Given the description of an element on the screen output the (x, y) to click on. 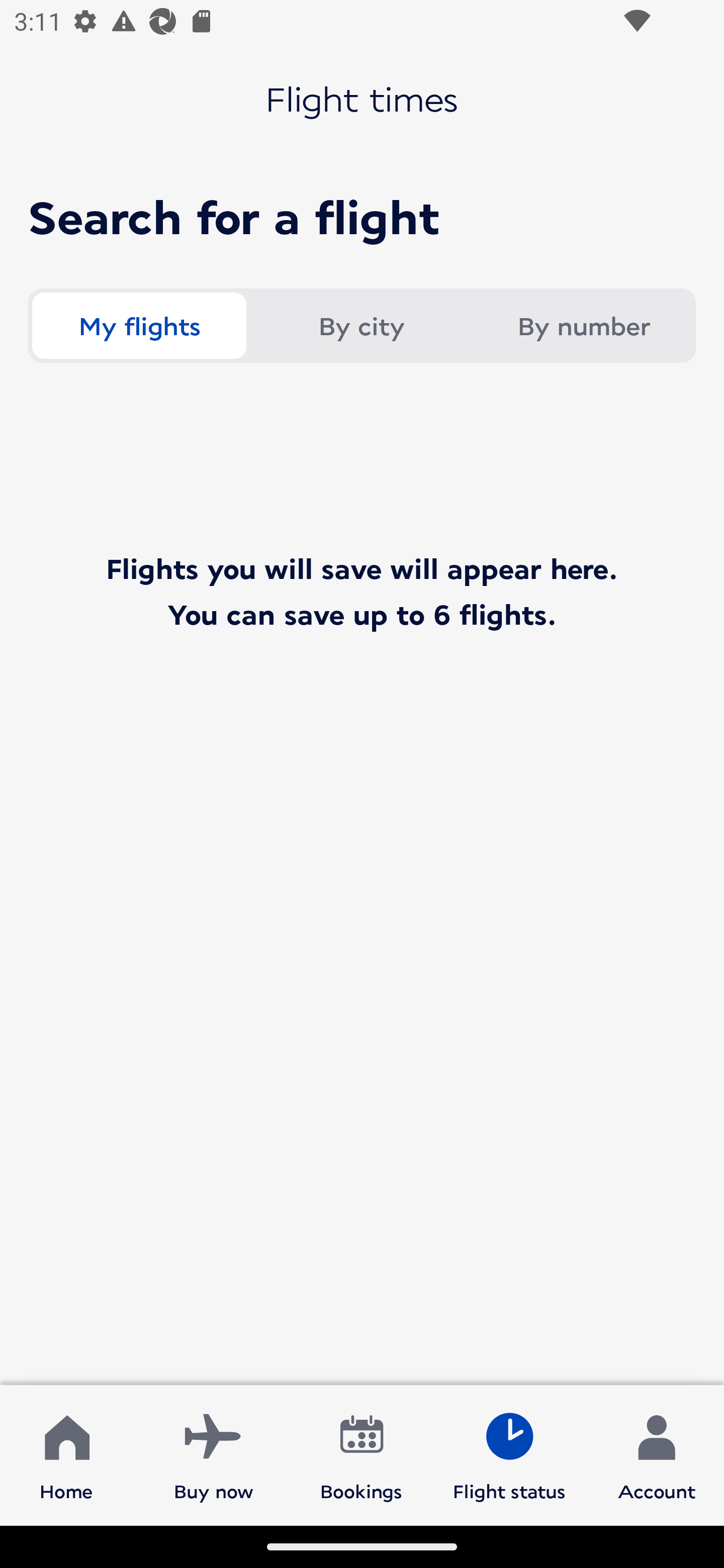
My flights (139, 325)
By city (361, 325)
By number (583, 325)
Home (66, 1454)
Buy now (213, 1454)
Bookings (361, 1454)
Account (657, 1454)
